Given the description of an element on the screen output the (x, y) to click on. 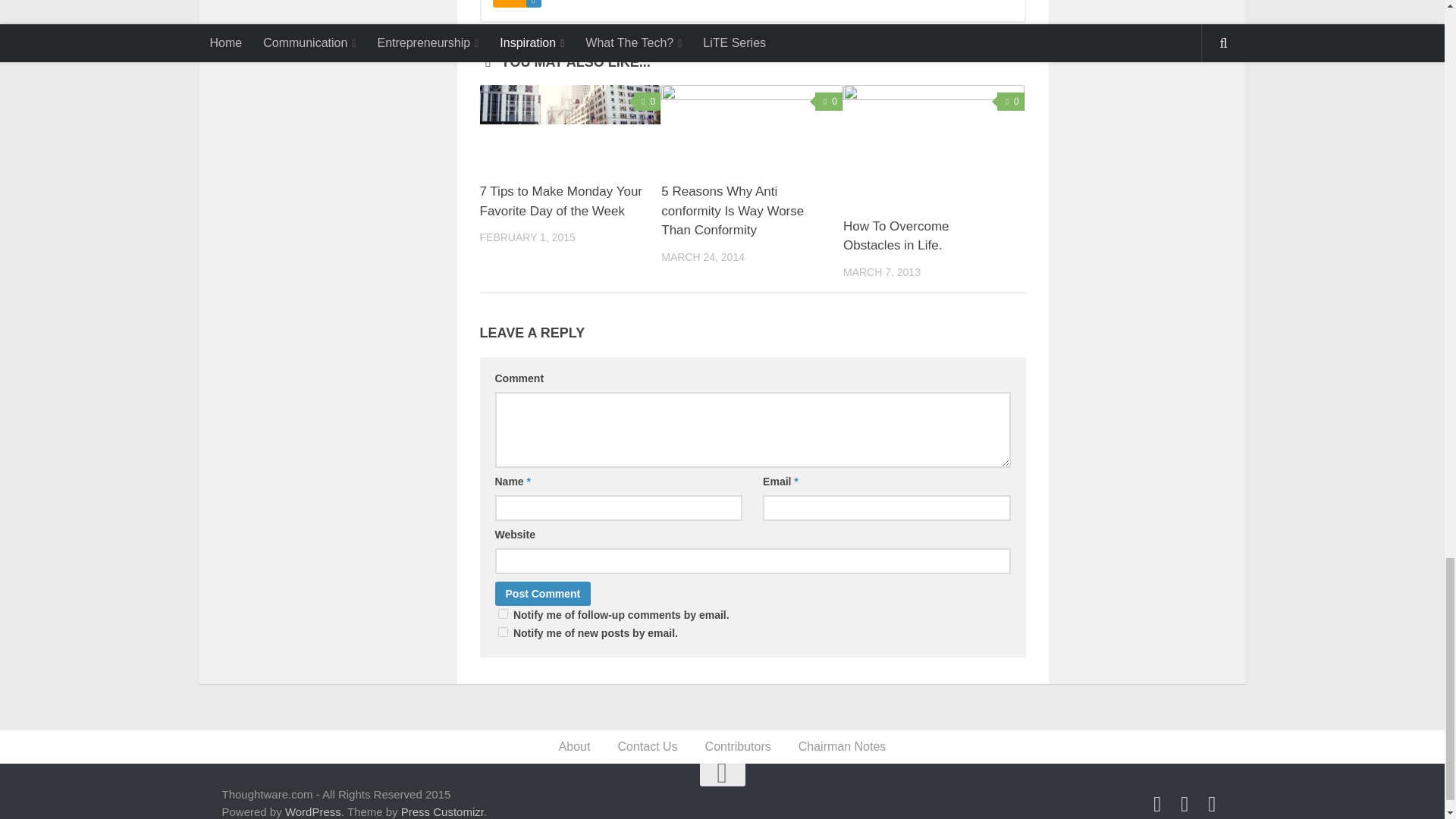
5 Reasons Why Anti conformity Is Way Worse Than Conformity (752, 127)
Post Comment (543, 593)
5 Reasons Why Anti conformity Is Way Worse Than Conformity (732, 210)
subscribe (501, 614)
subscribe (501, 632)
7 Tips to Make Monday Your Favorite Day of the Week (570, 127)
7 Tips to Make Monday Your Favorite Day of the Week (560, 201)
